Given the description of an element on the screen output the (x, y) to click on. 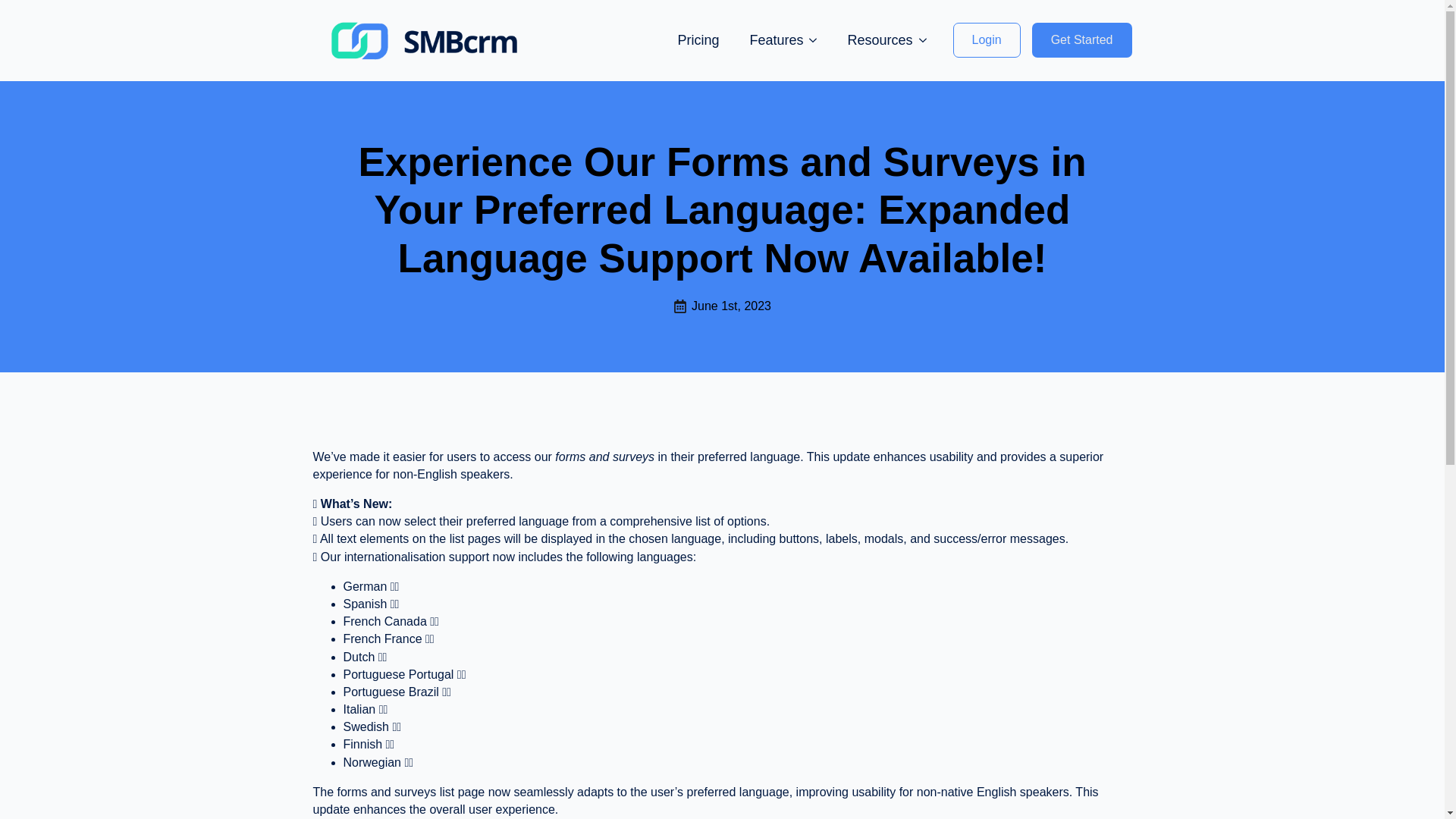
Pricing (697, 40)
Resources (871, 40)
Features (768, 40)
